Given the description of an element on the screen output the (x, y) to click on. 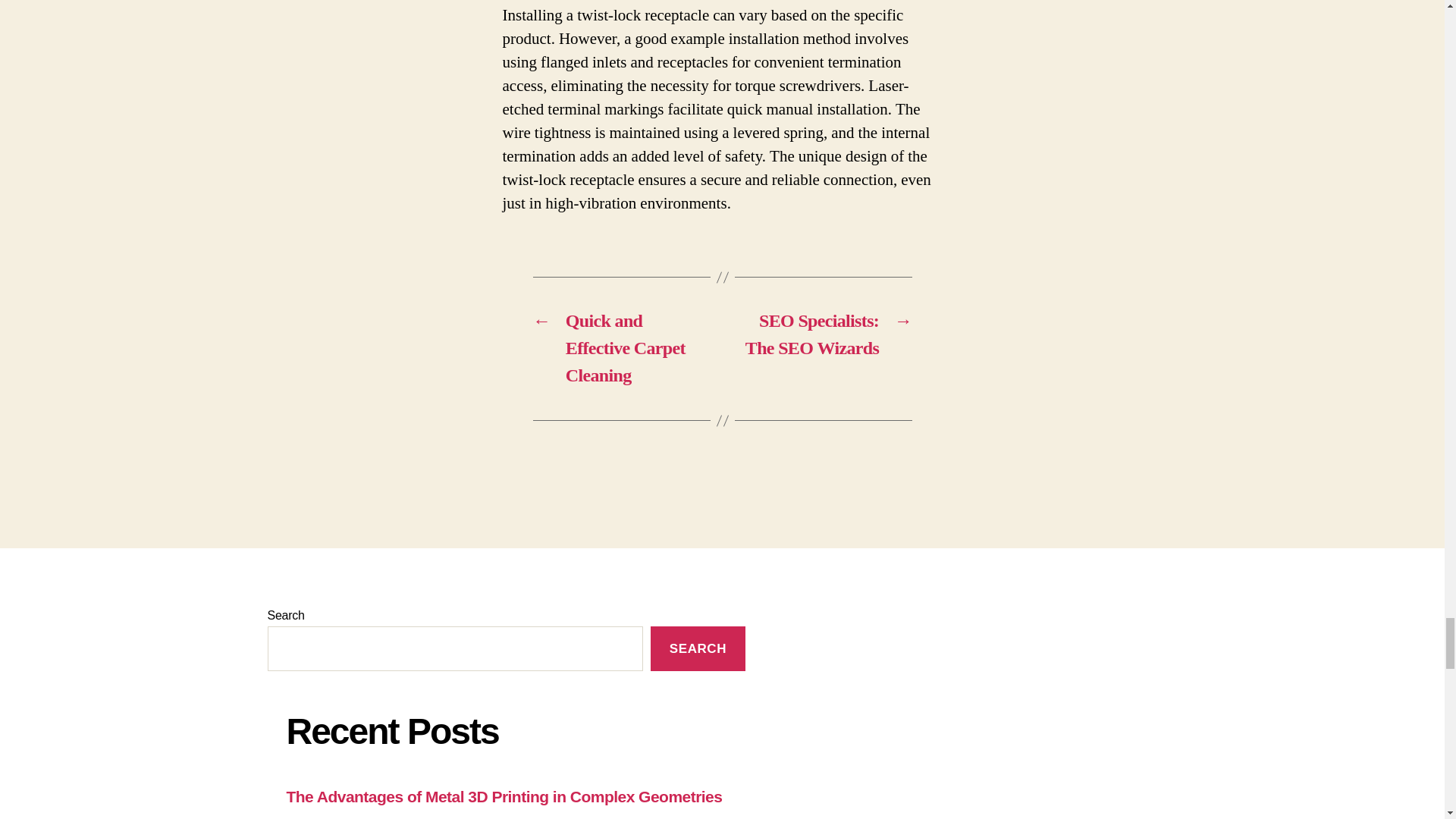
SEARCH (697, 648)
The Advantages of Metal 3D Printing in Complex Geometries (504, 796)
